Given the description of an element on the screen output the (x, y) to click on. 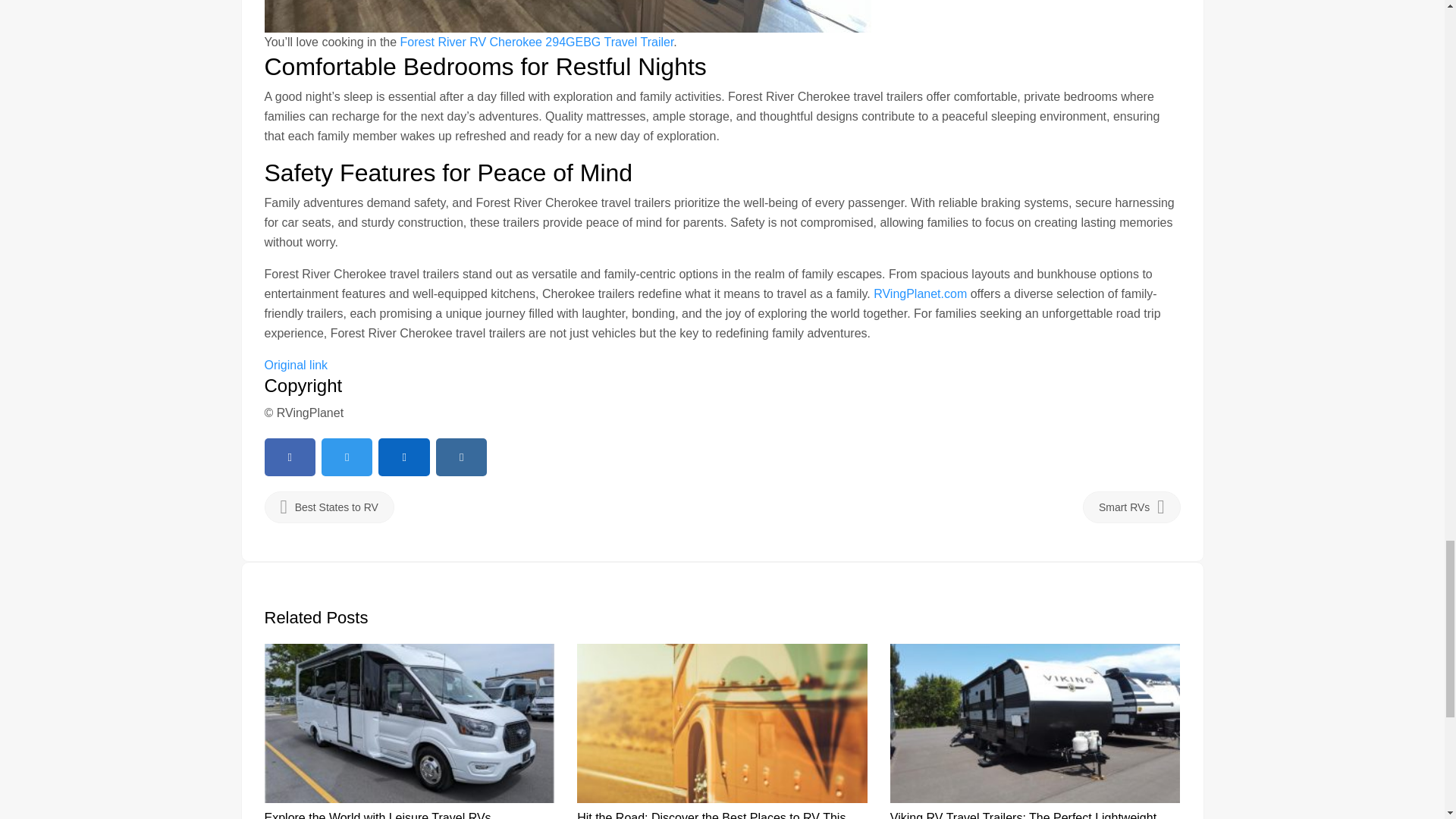
Original link (295, 364)
Forest River RV Cherokee 294GEBG Travel Trailer (537, 42)
Hit the Road: Discover the Best Places to RV This Summer! (710, 815)
RVingPlanet.com (919, 293)
Explore the World with Leisure Travel RVs (376, 815)
Best States to RV (328, 507)
Smart RVs (1131, 507)
